Given the description of an element on the screen output the (x, y) to click on. 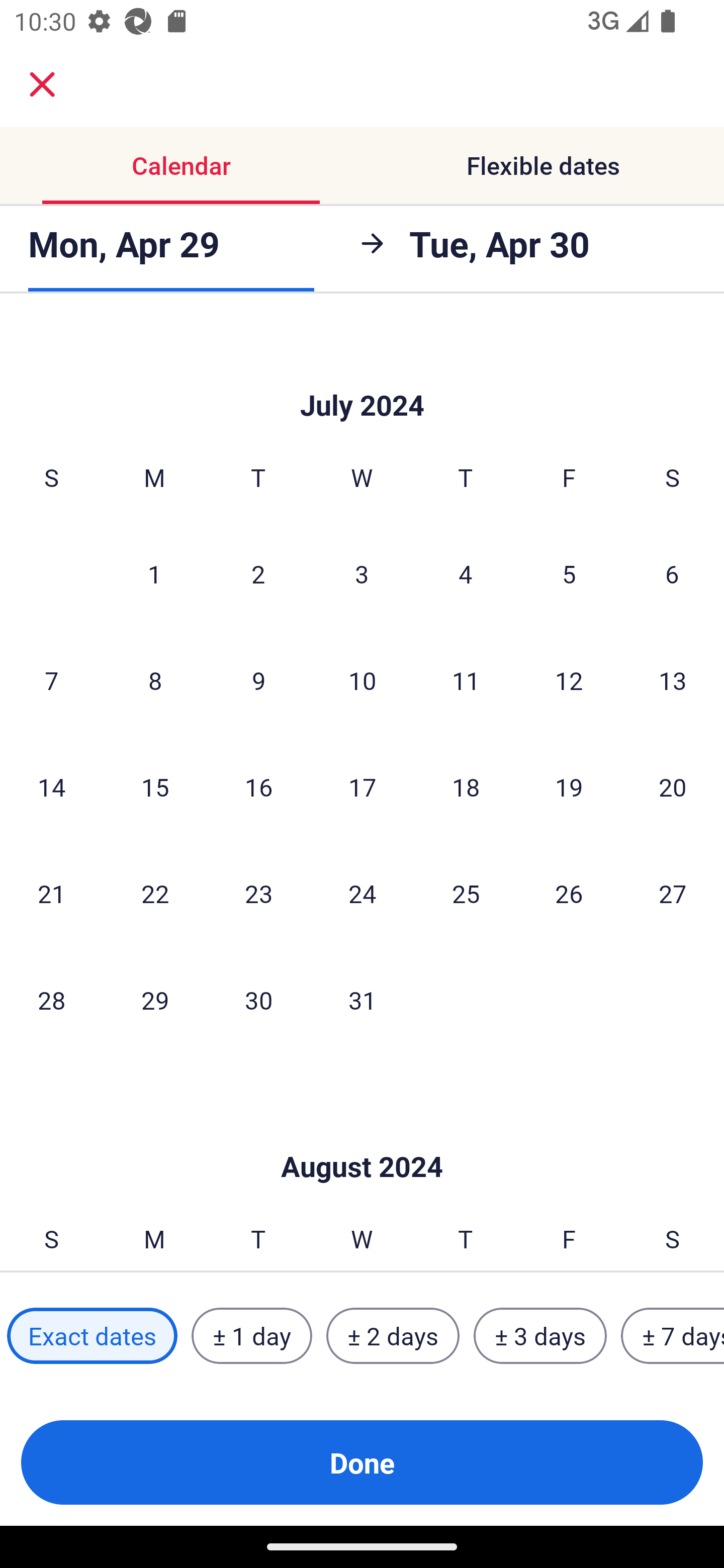
close. (42, 84)
Flexible dates (542, 164)
Skip to Done (362, 374)
1 Monday, July 1, 2024 (154, 573)
2 Tuesday, July 2, 2024 (257, 573)
3 Wednesday, July 3, 2024 (361, 573)
4 Thursday, July 4, 2024 (465, 573)
5 Friday, July 5, 2024 (568, 573)
6 Saturday, July 6, 2024 (672, 573)
7 Sunday, July 7, 2024 (51, 680)
8 Monday, July 8, 2024 (155, 680)
9 Tuesday, July 9, 2024 (258, 680)
10 Wednesday, July 10, 2024 (362, 680)
11 Thursday, July 11, 2024 (465, 680)
12 Friday, July 12, 2024 (569, 680)
13 Saturday, July 13, 2024 (672, 680)
14 Sunday, July 14, 2024 (51, 786)
15 Monday, July 15, 2024 (155, 786)
16 Tuesday, July 16, 2024 (258, 786)
17 Wednesday, July 17, 2024 (362, 786)
18 Thursday, July 18, 2024 (465, 786)
19 Friday, July 19, 2024 (569, 786)
20 Saturday, July 20, 2024 (672, 786)
21 Sunday, July 21, 2024 (51, 893)
22 Monday, July 22, 2024 (155, 893)
23 Tuesday, July 23, 2024 (258, 893)
24 Wednesday, July 24, 2024 (362, 893)
25 Thursday, July 25, 2024 (465, 893)
26 Friday, July 26, 2024 (569, 893)
27 Saturday, July 27, 2024 (672, 893)
28 Sunday, July 28, 2024 (51, 1000)
29 Monday, July 29, 2024 (155, 1000)
30 Tuesday, July 30, 2024 (258, 1000)
31 Wednesday, July 31, 2024 (362, 1000)
Skip to Done (362, 1136)
Exact dates (92, 1335)
± 1 day (251, 1335)
± 2 days (392, 1335)
± 3 days (539, 1335)
± 7 days (672, 1335)
Done (361, 1462)
